Given the description of an element on the screen output the (x, y) to click on. 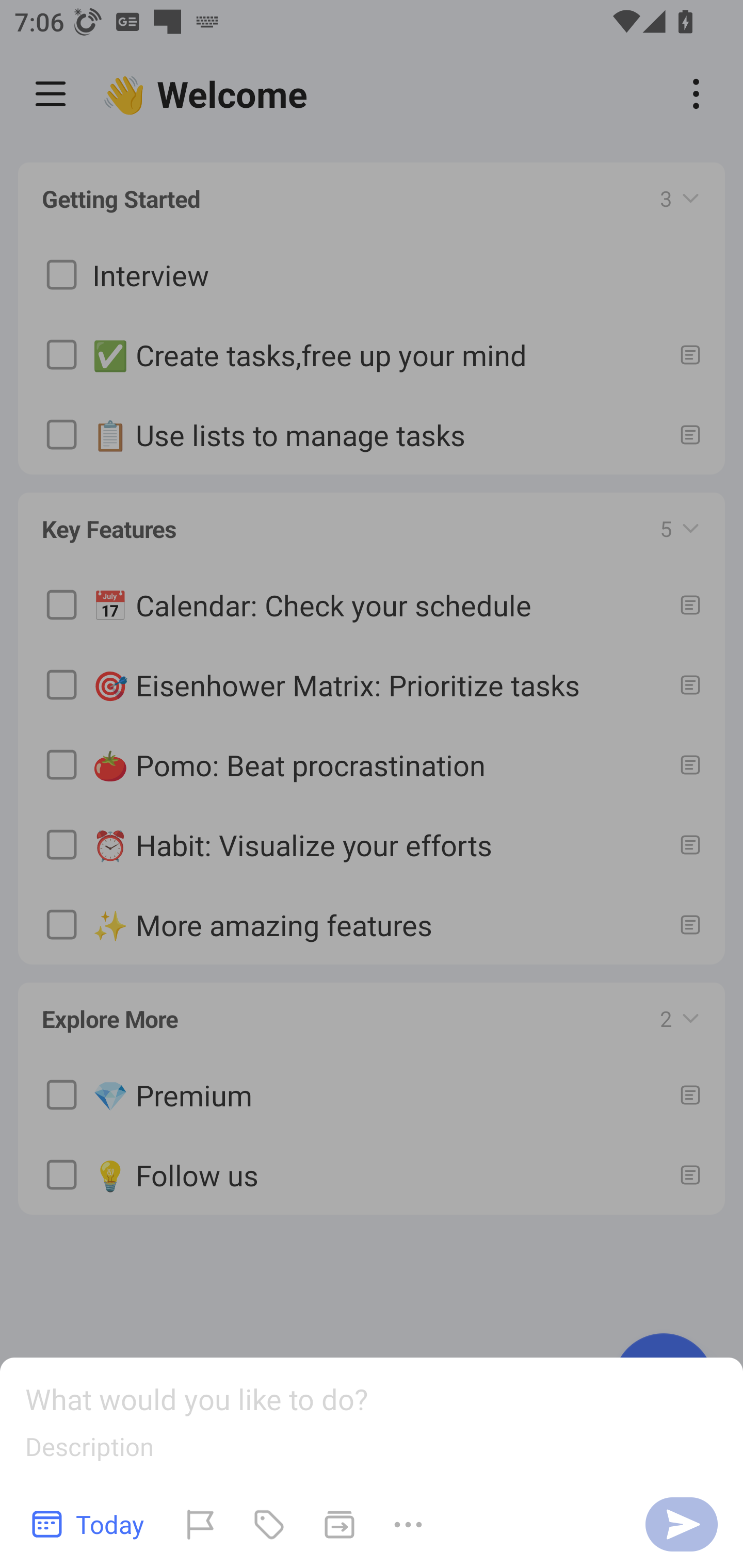
What would you like to do? Description Today (371, 1462)
Today (88, 1523)
